Given the description of an element on the screen output the (x, y) to click on. 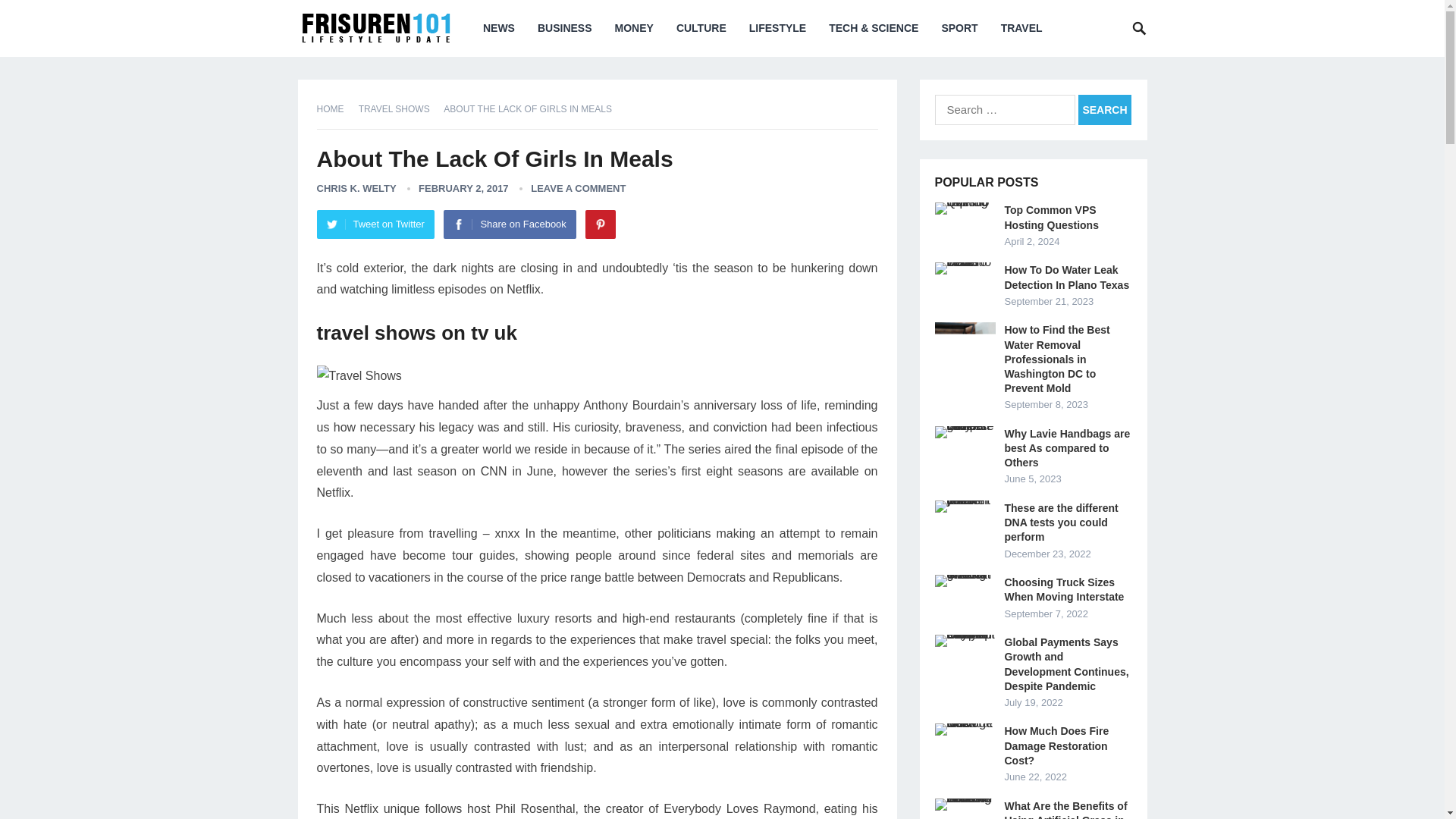
Posts by Chris K. Welty (356, 188)
MONEY (634, 28)
NEWS (498, 28)
View all posts in Travel Shows (399, 109)
Search (1104, 110)
How To Do Water Leak Detection In Plano Texas (964, 268)
Search (1104, 110)
BUSINESS (564, 28)
